Given the description of an element on the screen output the (x, y) to click on. 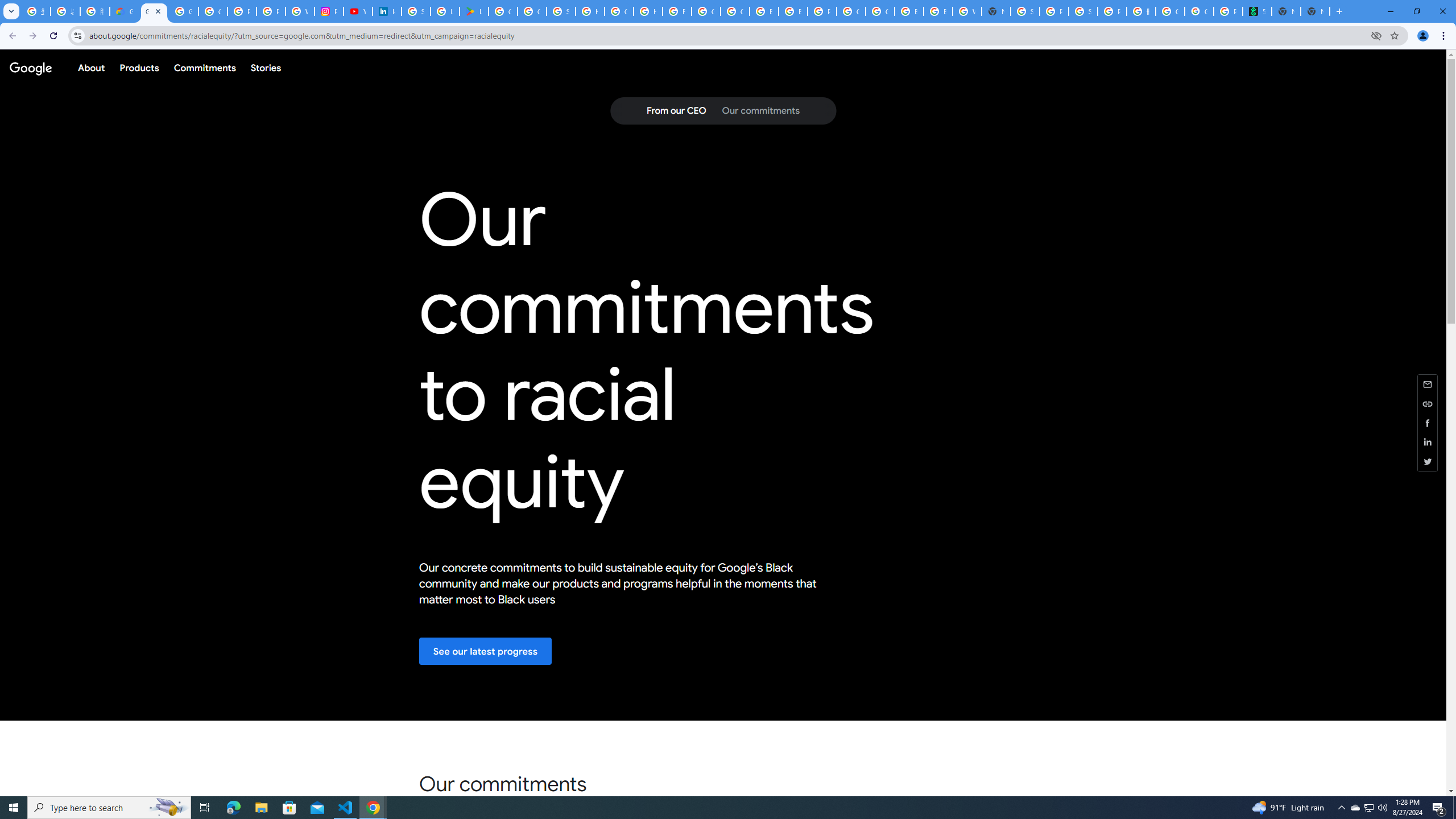
Share this page (Copy) (1427, 403)
See our latest progress (485, 651)
Sign in - Google Accounts (1025, 11)
Share this page (Twitter) (1427, 461)
